Given the description of an element on the screen output the (x, y) to click on. 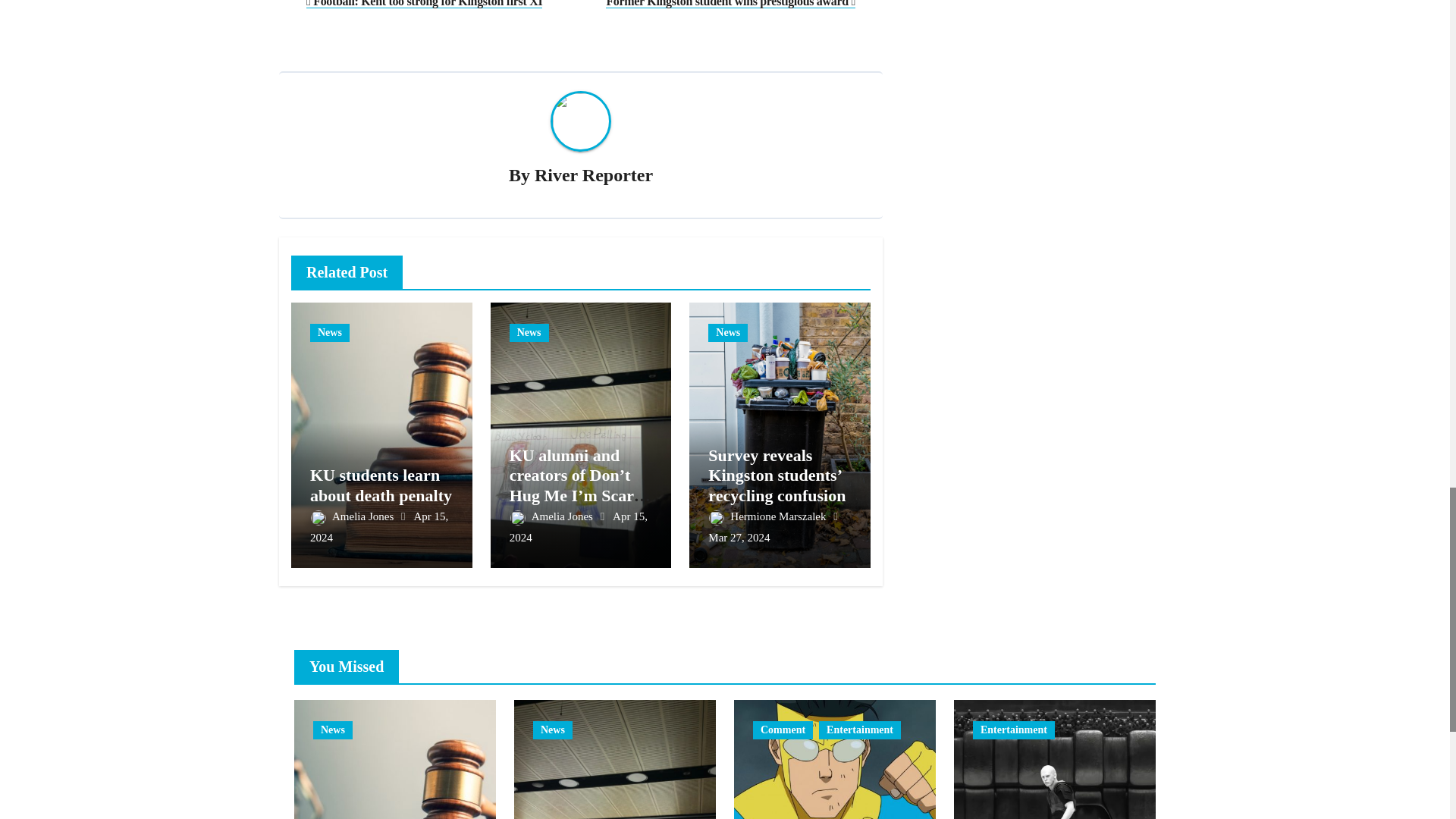
Permalink to: KU students learn about death penalty (380, 485)
